Given the description of an element on the screen output the (x, y) to click on. 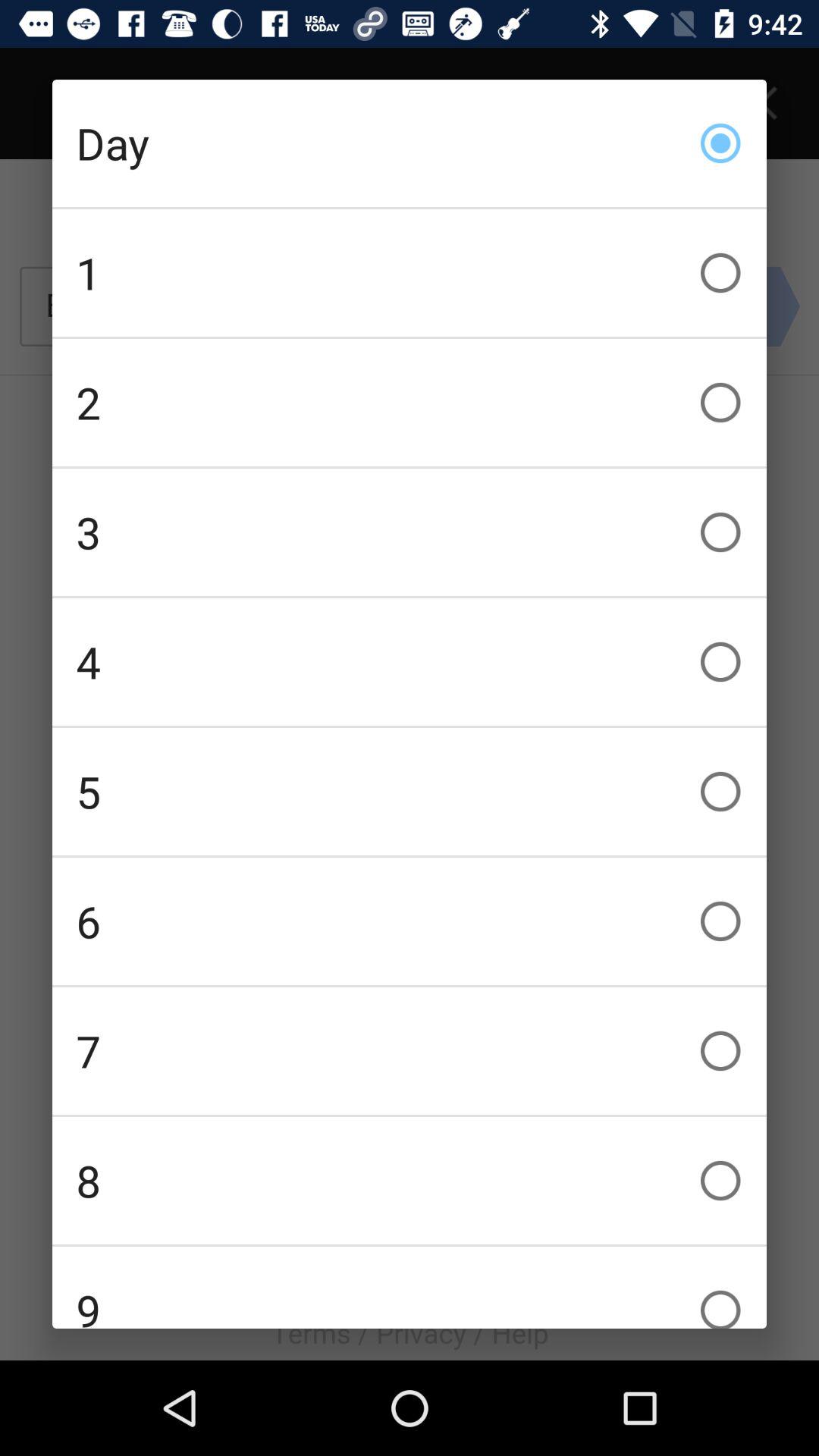
launch the day item (409, 143)
